Given the description of an element on the screen output the (x, y) to click on. 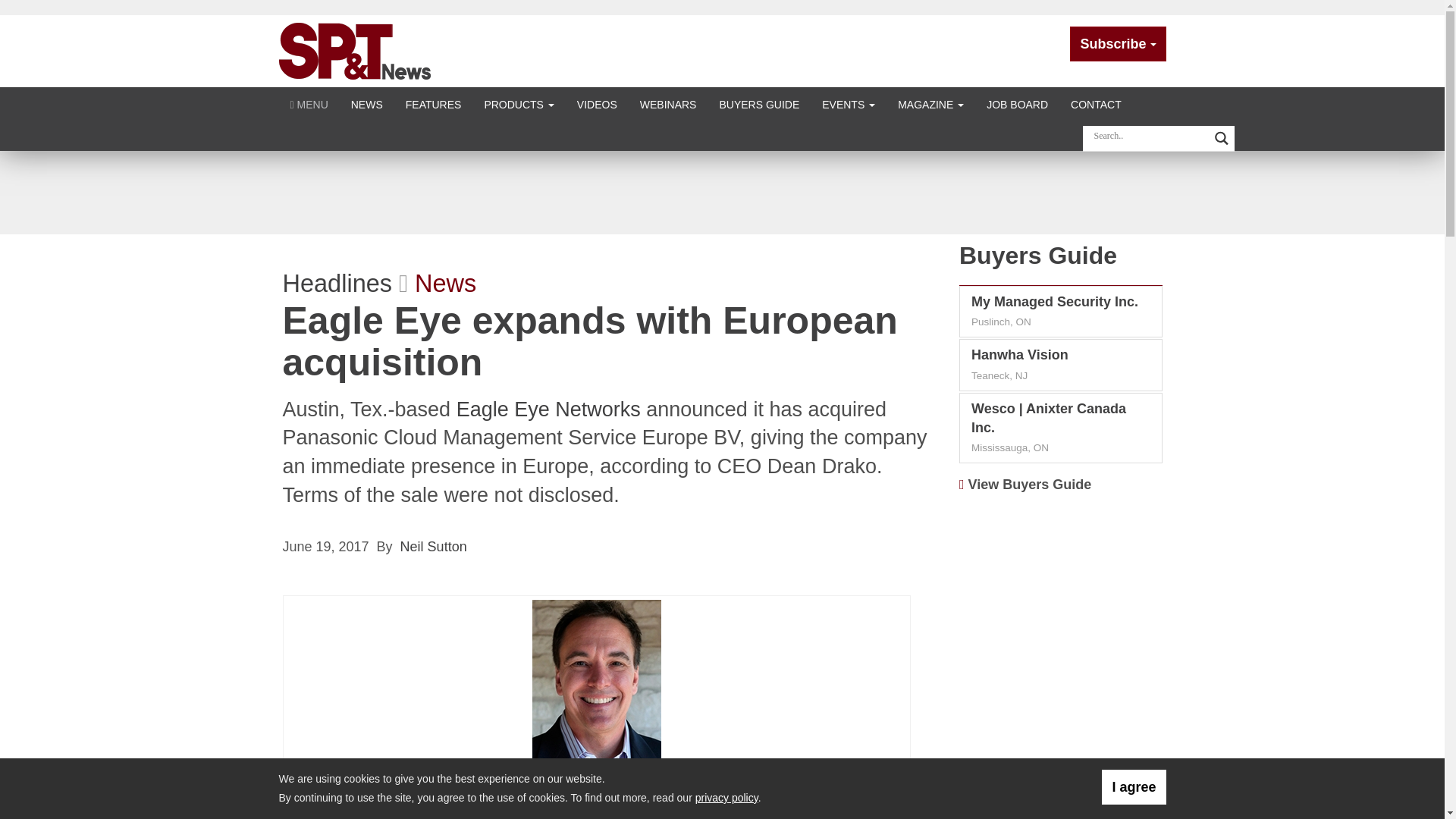
Click to show site navigation (309, 103)
CONTACT (1095, 103)
JOB BOARD (1017, 103)
NEWS (366, 103)
Subscribe (1118, 43)
3rd party ad content (1060, 601)
MAGAZINE (930, 103)
EVENTS (848, 103)
MENU (309, 103)
WEBINARS (667, 103)
3rd party ad content (721, 192)
PRODUCTS (517, 103)
3rd party ad content (1060, 761)
FEATURES (433, 103)
